Given the description of an element on the screen output the (x, y) to click on. 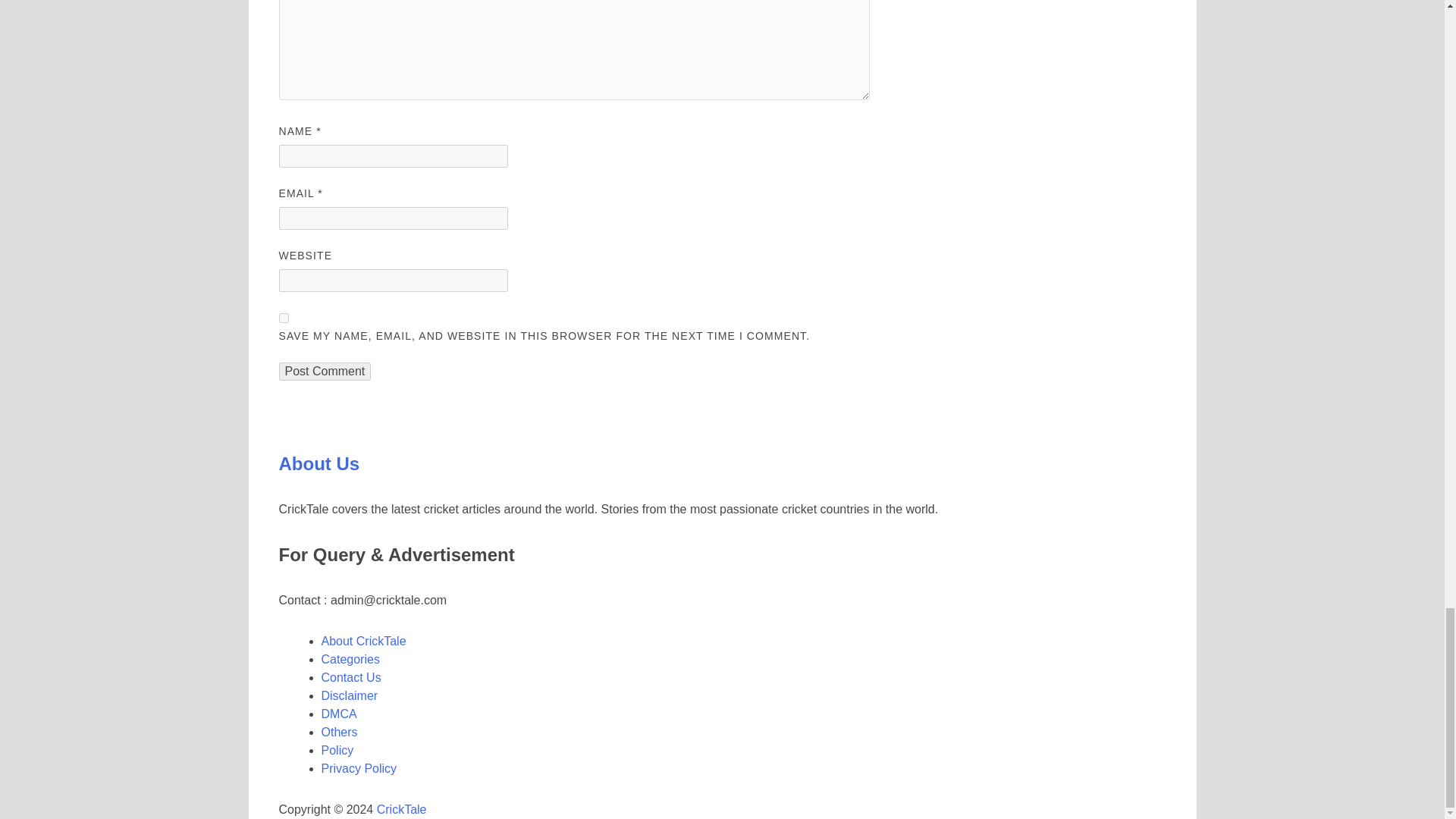
yes (283, 317)
Post Comment (325, 371)
